Given the description of an element on the screen output the (x, y) to click on. 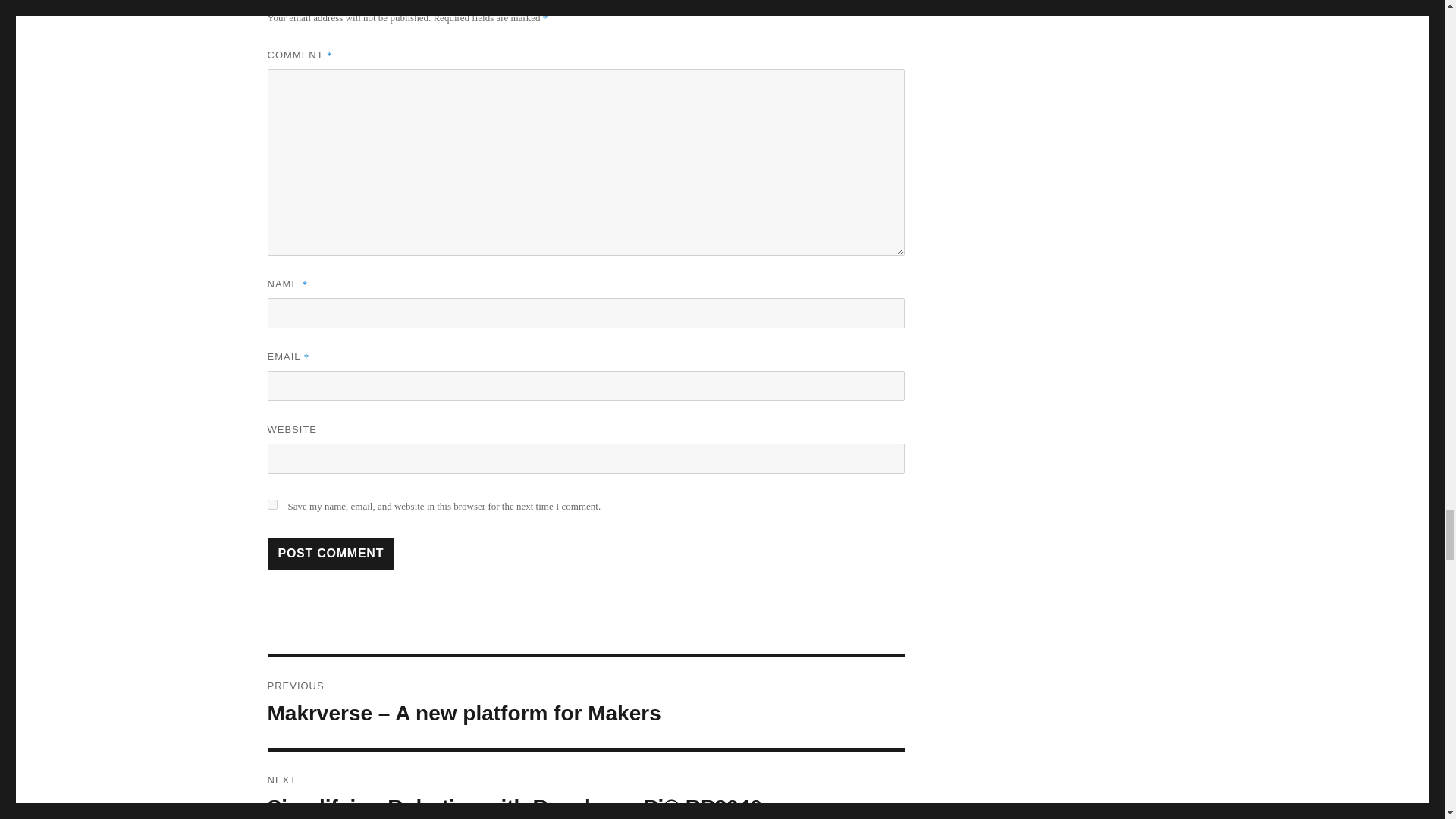
Post Comment (330, 553)
yes (271, 504)
Post Comment (330, 553)
